Given the description of an element on the screen output the (x, y) to click on. 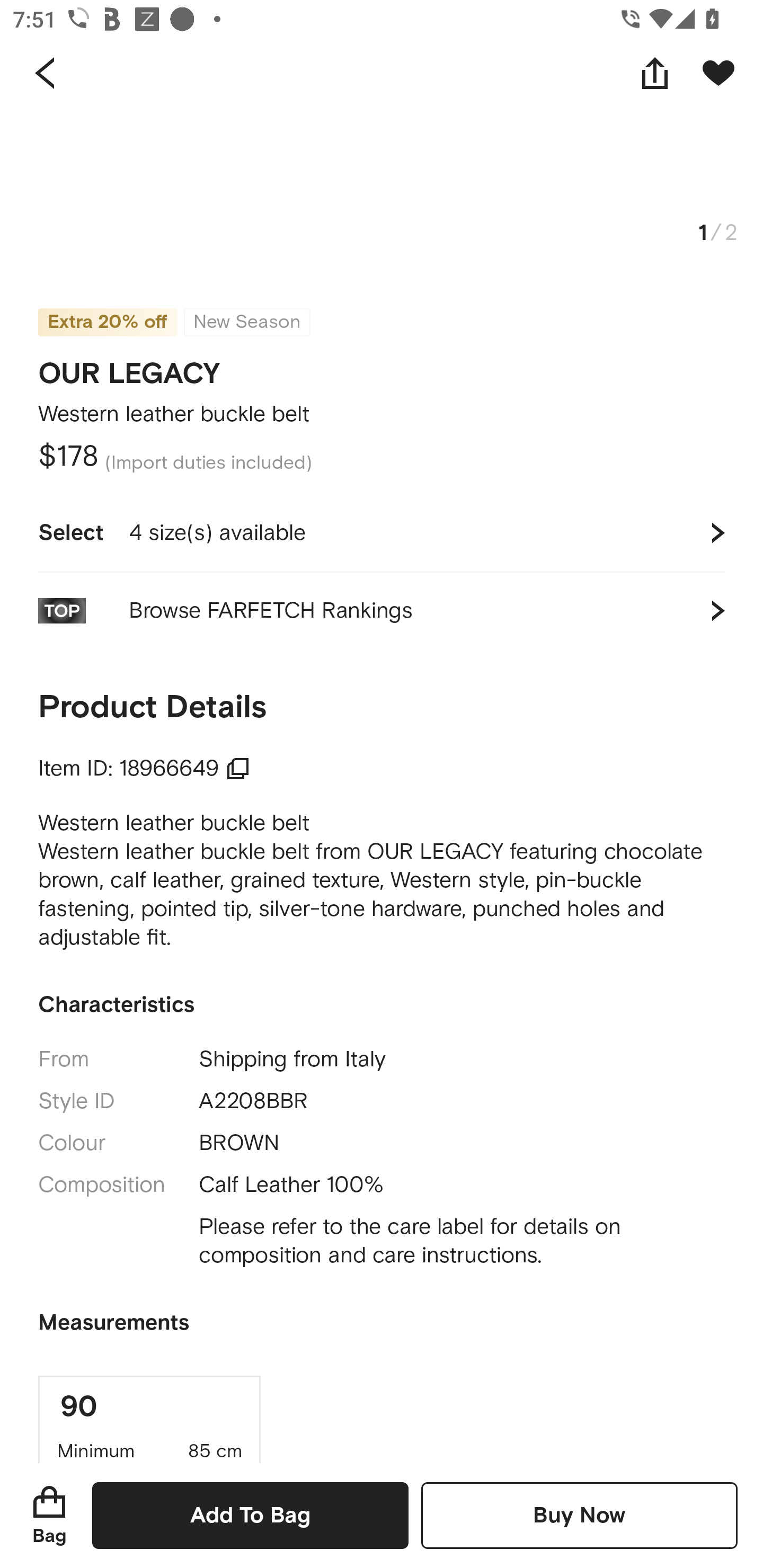
Extra 20% off (107, 310)
OUR LEGACY (129, 368)
Select 4 size(s) available (381, 532)
Browse FARFETCH Rankings (381, 610)
Item ID: 18966649 (144, 769)
Bag (49, 1515)
Add To Bag (250, 1515)
Buy Now (579, 1515)
